Given the description of an element on the screen output the (x, y) to click on. 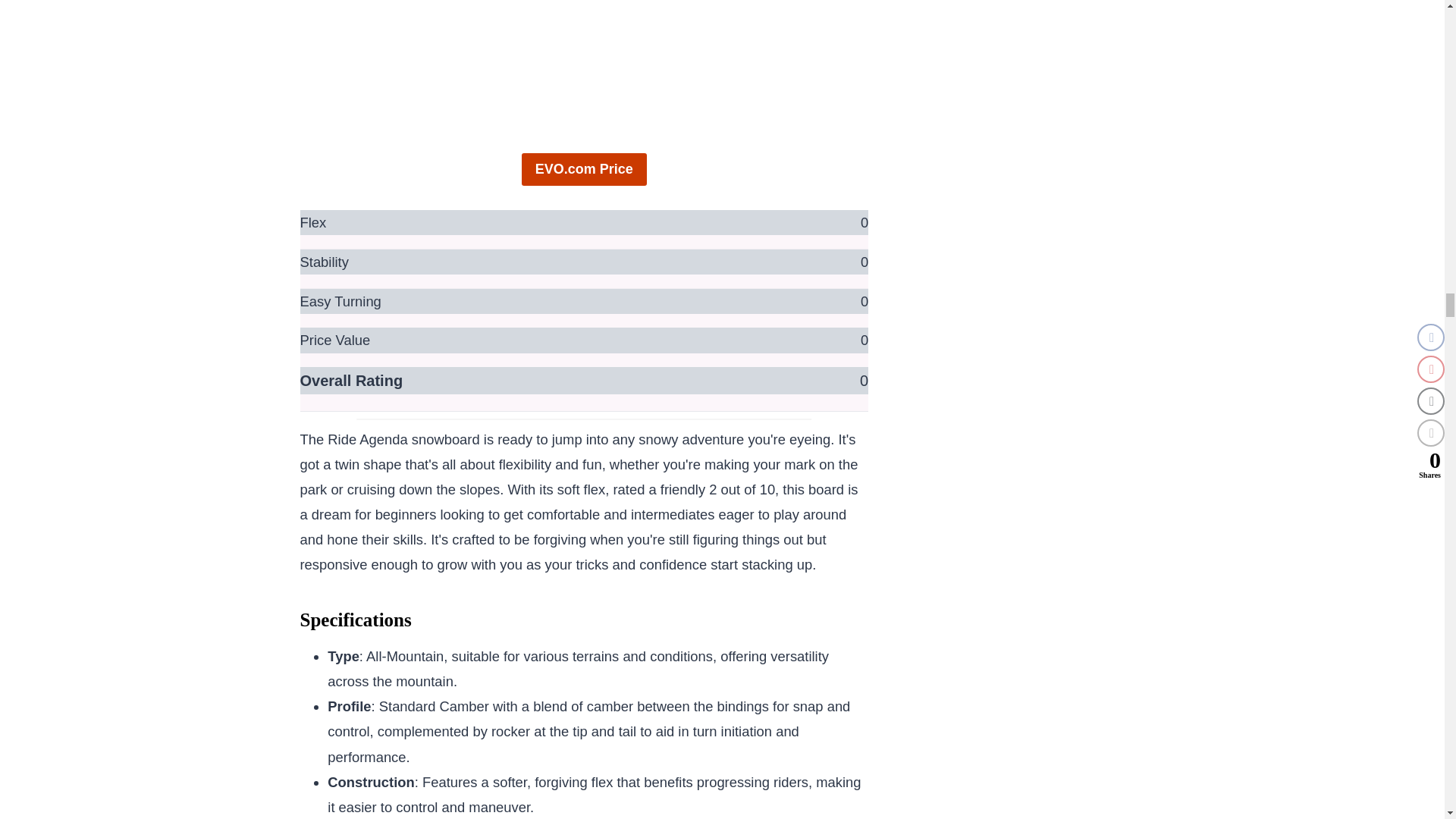
EVO.com Price (583, 169)
